Given the description of an element on the screen output the (x, y) to click on. 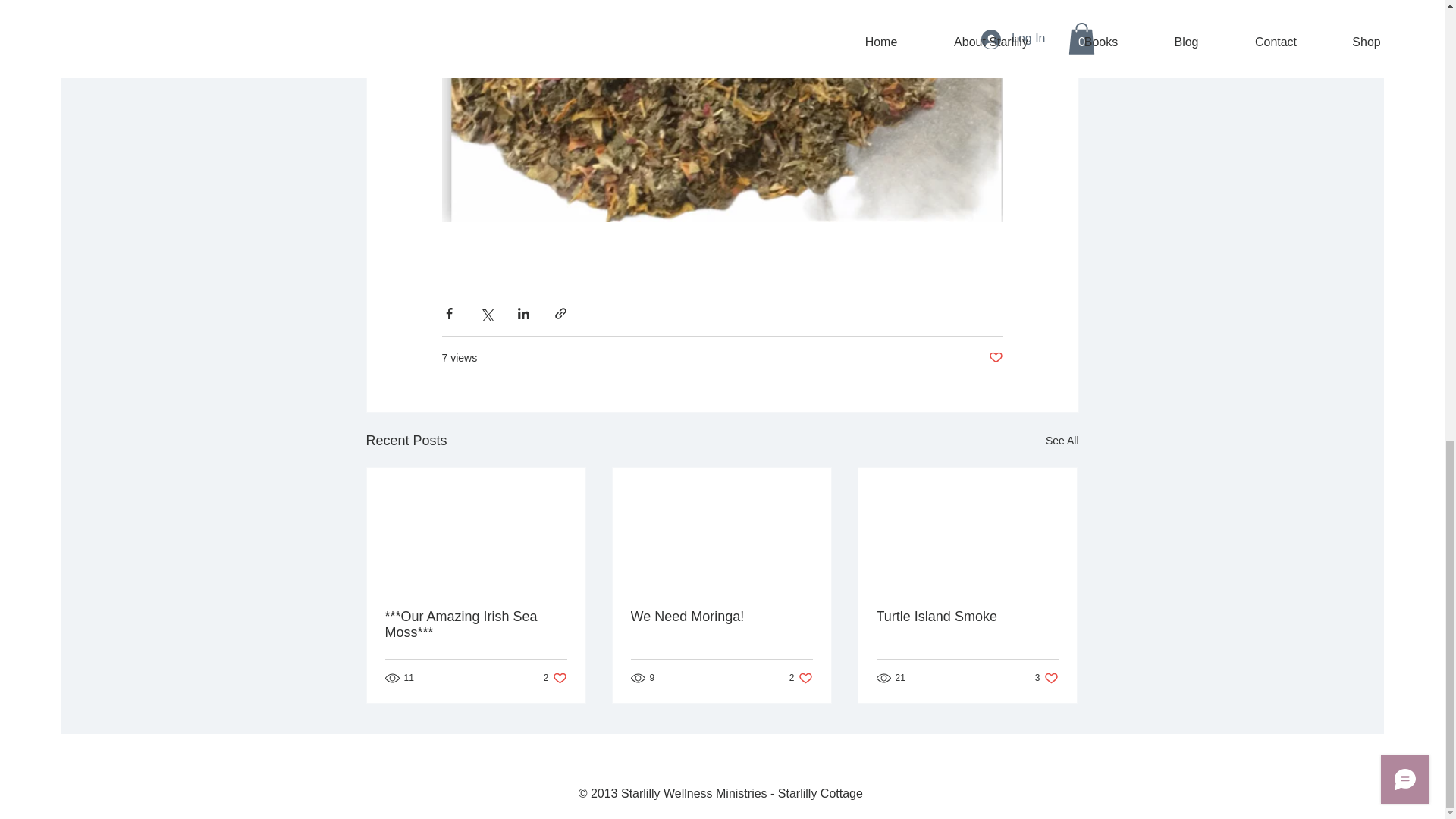
Post not marked as liked (995, 358)
See All (1061, 440)
We Need Moringa! (800, 677)
Turtle Island Smoke (721, 616)
